Given the description of an element on the screen output the (x, y) to click on. 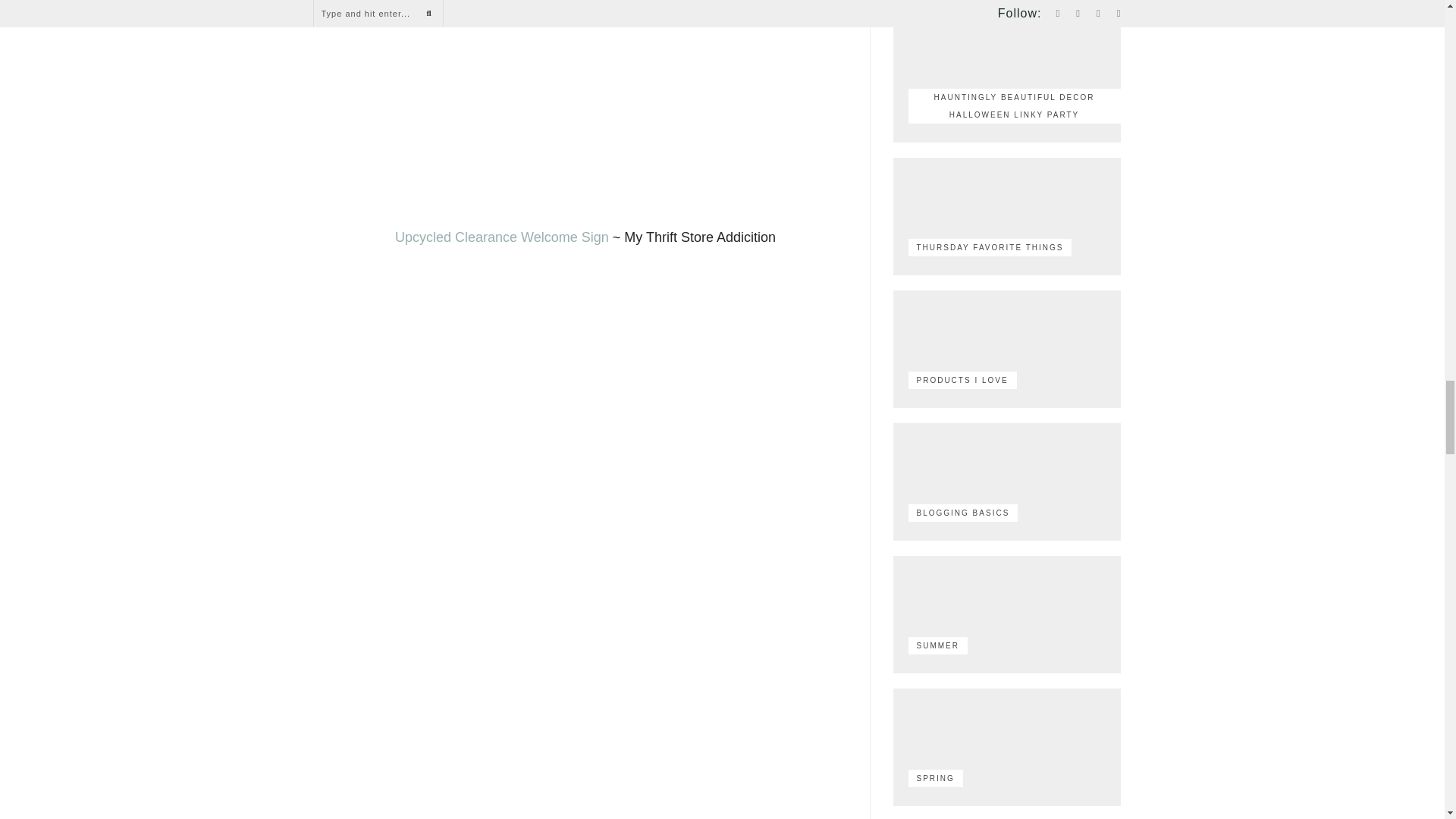
Upcycled Clearance Welcome Sign (501, 237)
